Given the description of an element on the screen output the (x, y) to click on. 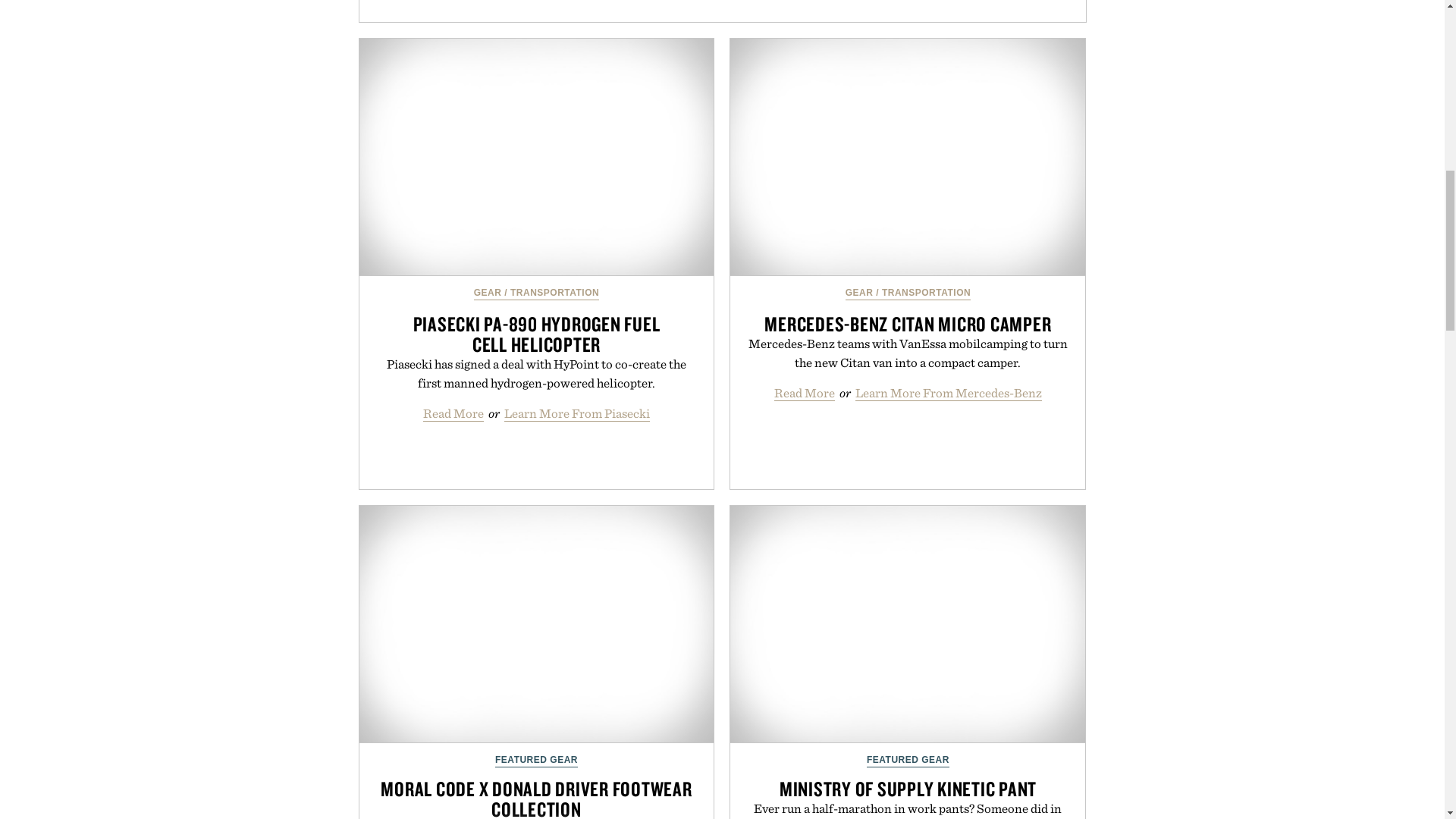
Moral Code x Donald Driver Footwear Collection (536, 624)
3rd party ad content (725, 11)
Mercedes-Benz Citan Micro Camper (907, 157)
Piasecki PA-890 Hydrogen Fuel Cell Helicopter (536, 157)
Ministry of Supply Kinetic Pant (907, 624)
